Given the description of an element on the screen output the (x, y) to click on. 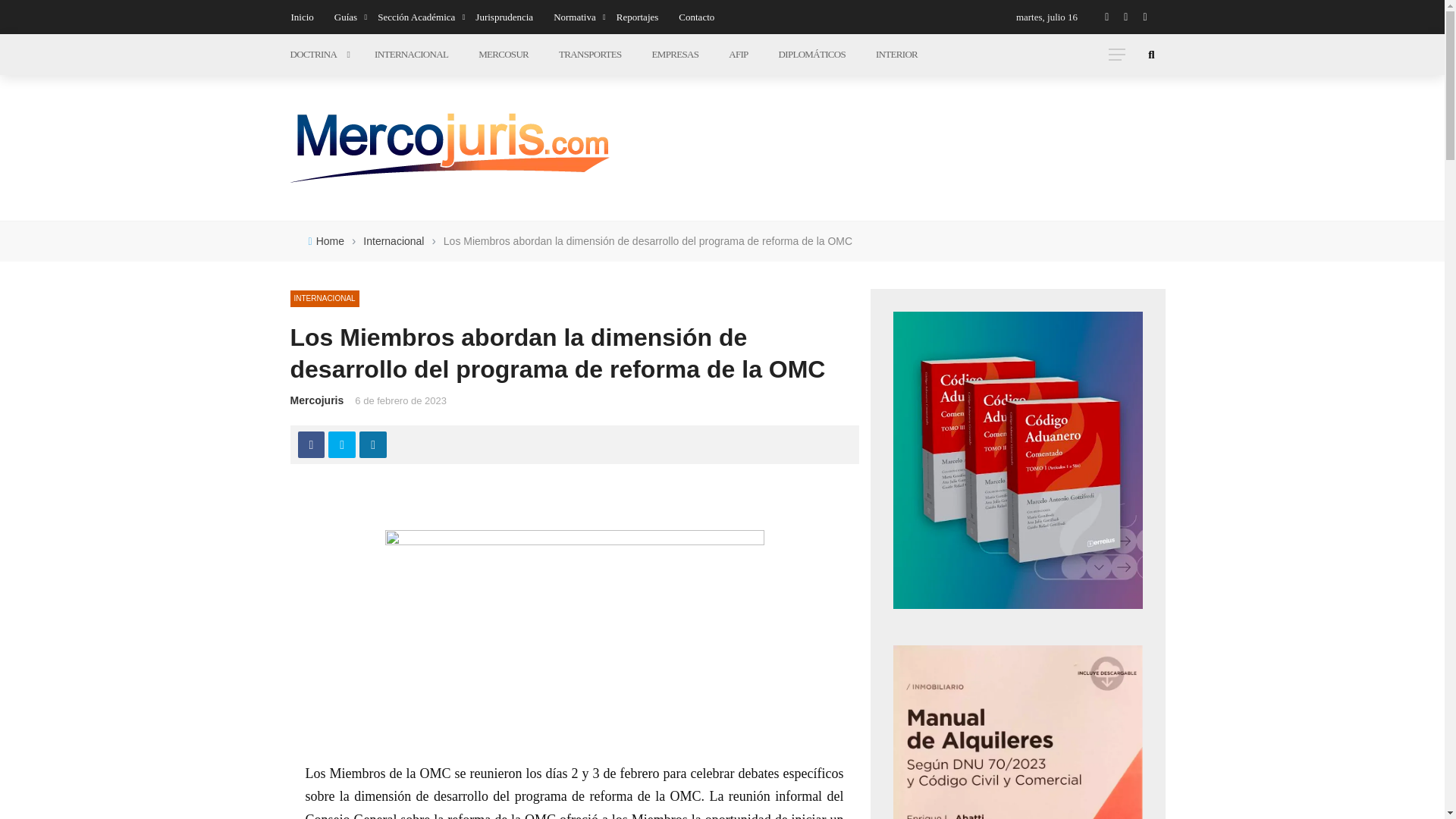
OMC REUNION (574, 635)
